Given the description of an element on the screen output the (x, y) to click on. 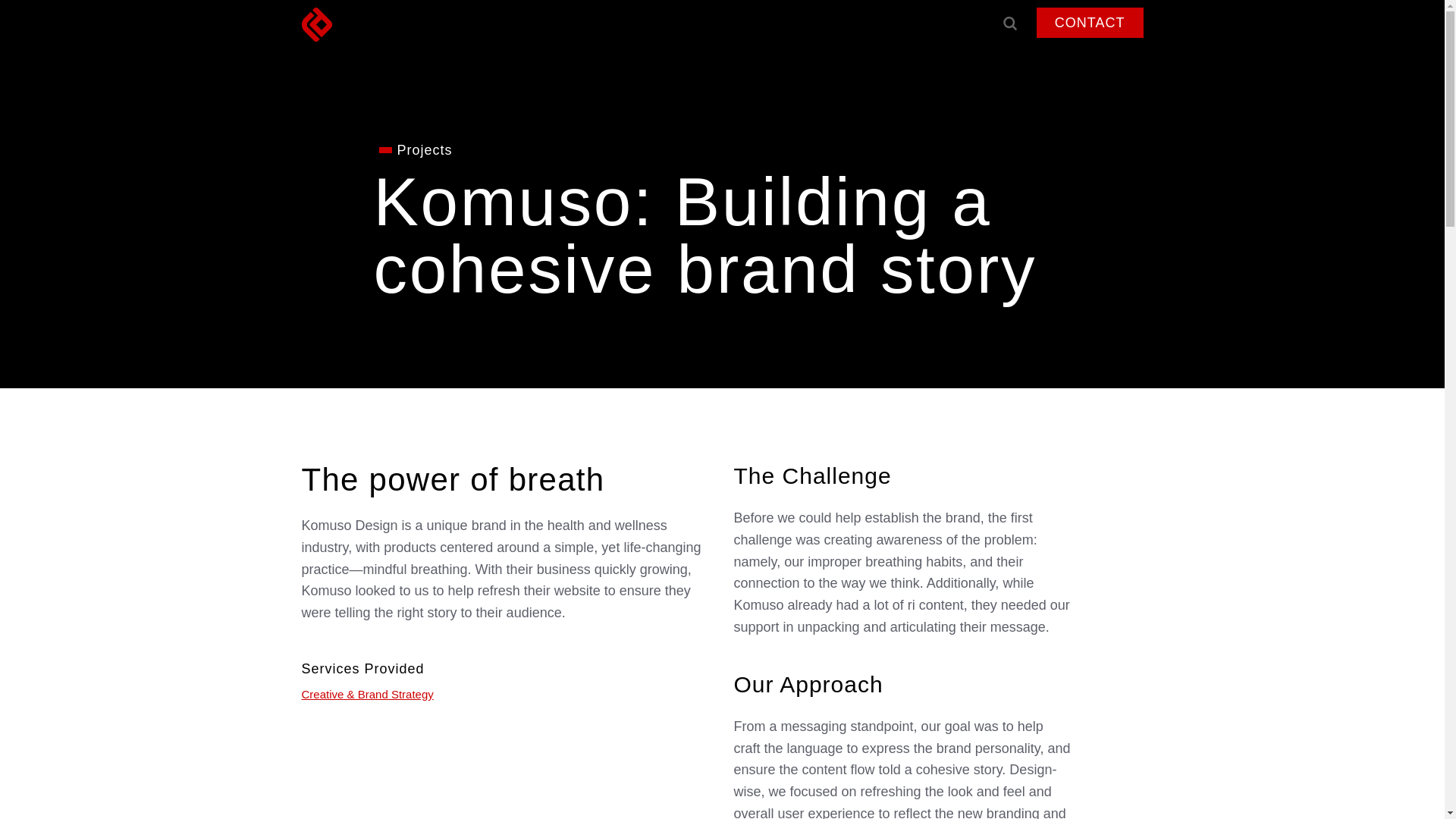
Skip to main content (553, 22)
CONTACT (1058, 22)
